Given the description of an element on the screen output the (x, y) to click on. 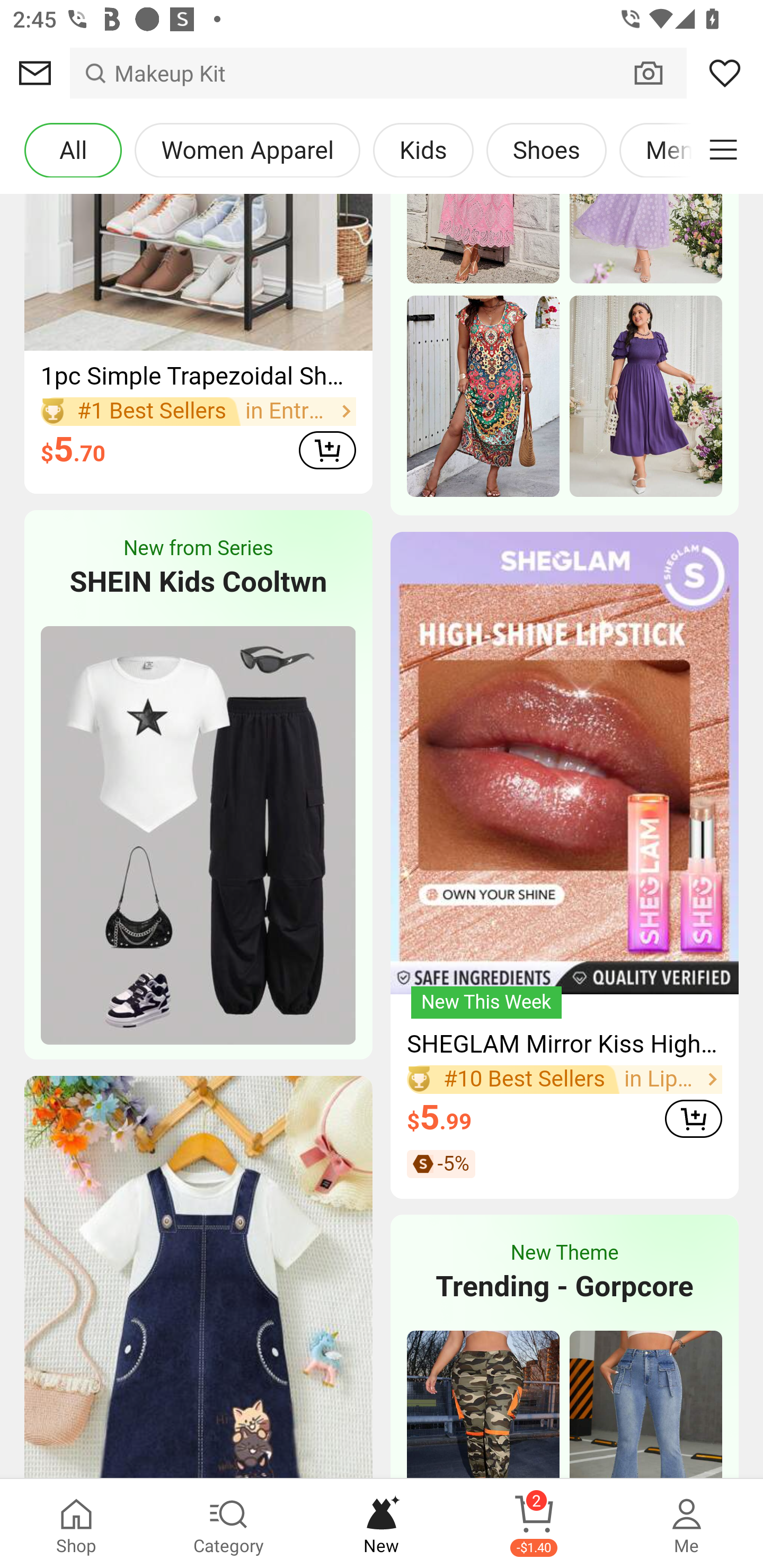
Wishlist (724, 72)
VISUAL SEARCH (657, 72)
All (72, 150)
Women Apparel (246, 150)
Kids (422, 150)
Shoes (545, 150)
 (723, 150)
Underwear & Sleepwear (179, 373)
Jewelry & Watches (153, 453)
New from Series SHEIN Kids Cooltwn (198, 567)
New Theme Trending - Gorpcore (564, 1272)
Shop (76, 1523)
Category (228, 1523)
Cart 2 -$1.40 (533, 1523)
Me (686, 1523)
